Given the description of an element on the screen output the (x, y) to click on. 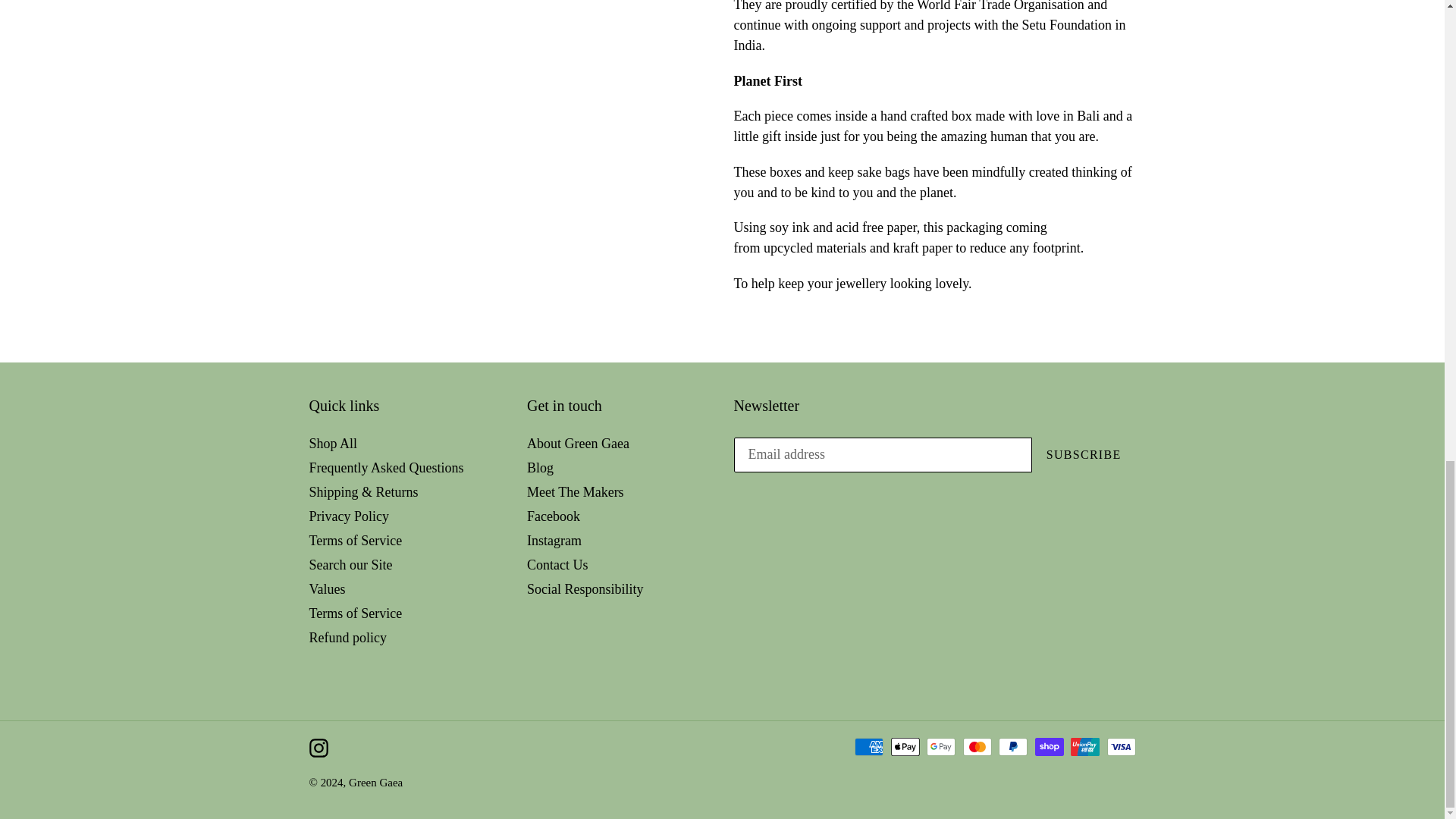
Shop All (333, 443)
Frequently Asked Questions (386, 467)
